Given the description of an element on the screen output the (x, y) to click on. 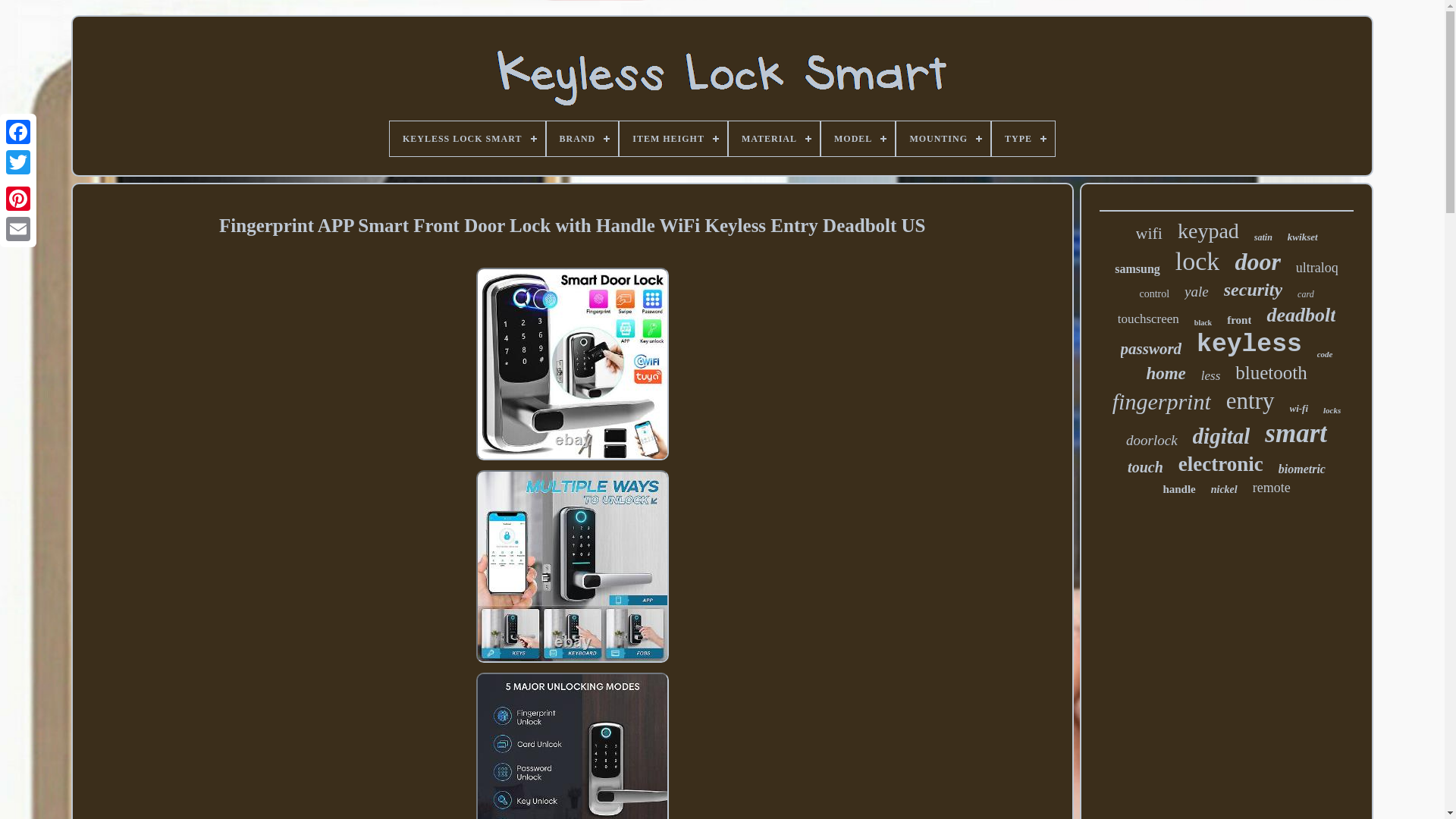
ITEM HEIGHT (673, 138)
KEYLESS LOCK SMART (467, 138)
BRAND (582, 138)
